Given the description of an element on the screen output the (x, y) to click on. 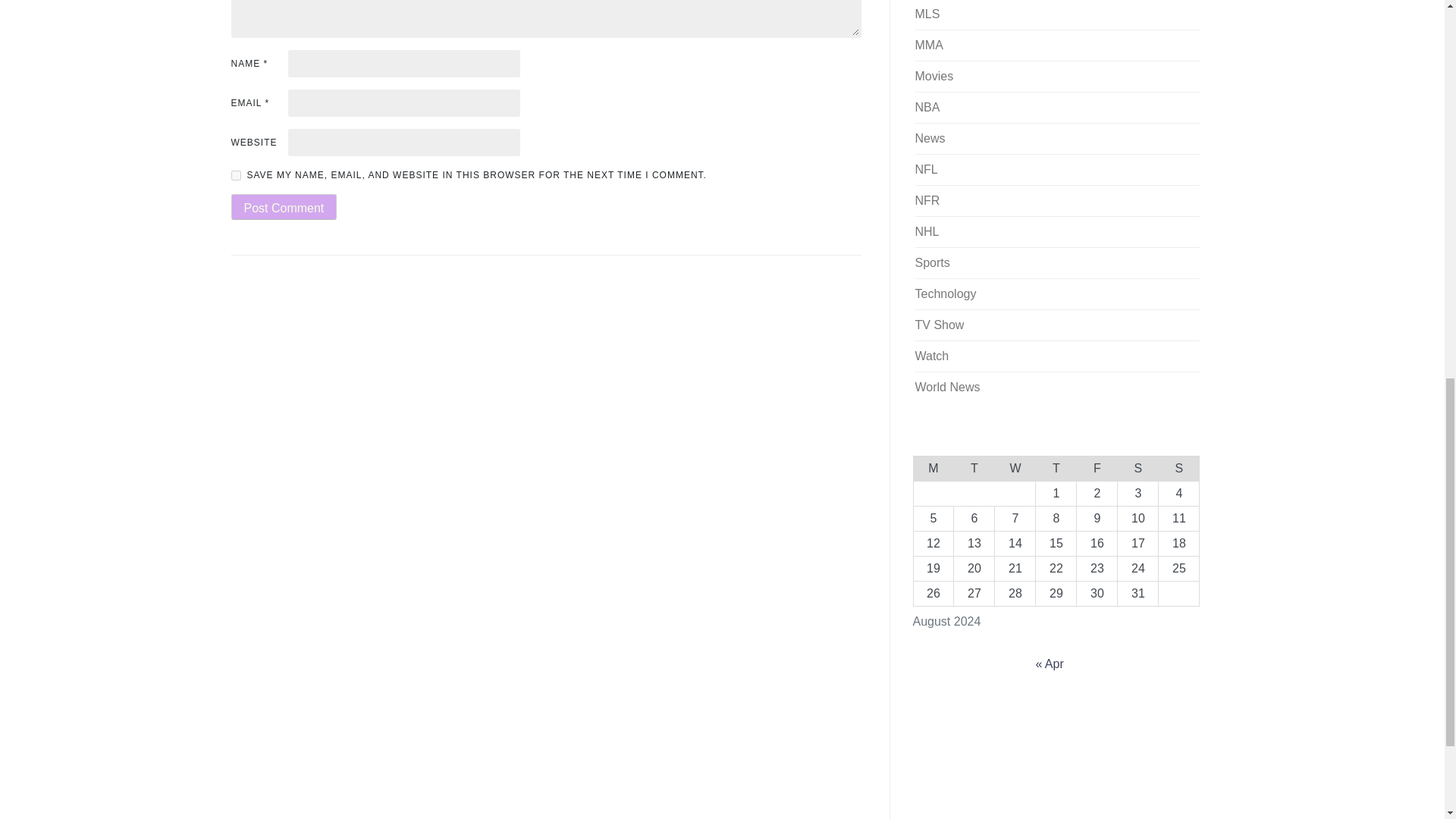
Friday (1097, 467)
Wednesday (1014, 467)
Monday (932, 467)
yes (235, 175)
Saturday (1138, 467)
Thursday (1056, 467)
Sunday (1178, 467)
Tuesday (973, 467)
Post Comment (283, 207)
